Given the description of an element on the screen output the (x, y) to click on. 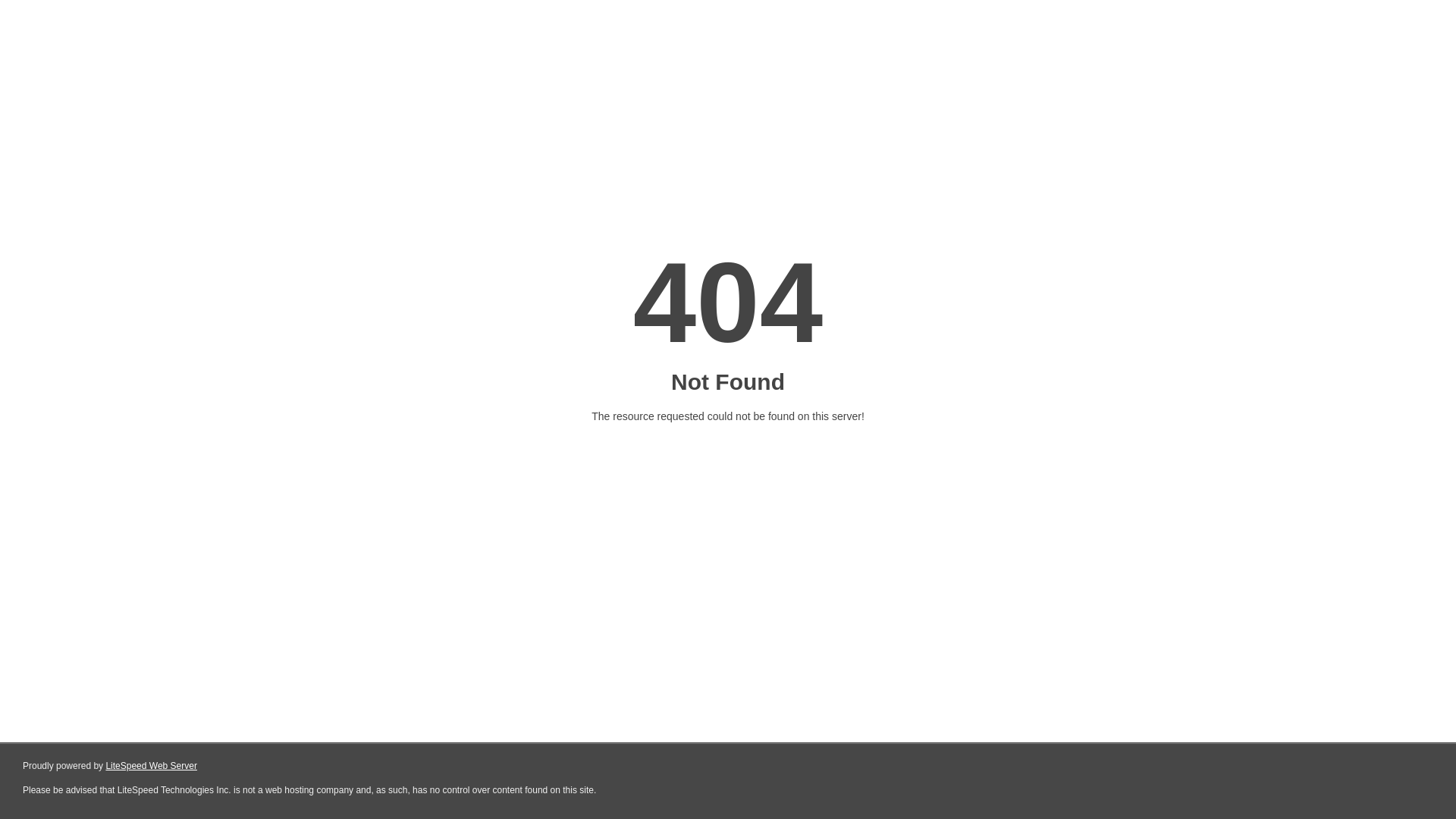
LiteSpeed Web Server Element type: text (151, 765)
